Given the description of an element on the screen output the (x, y) to click on. 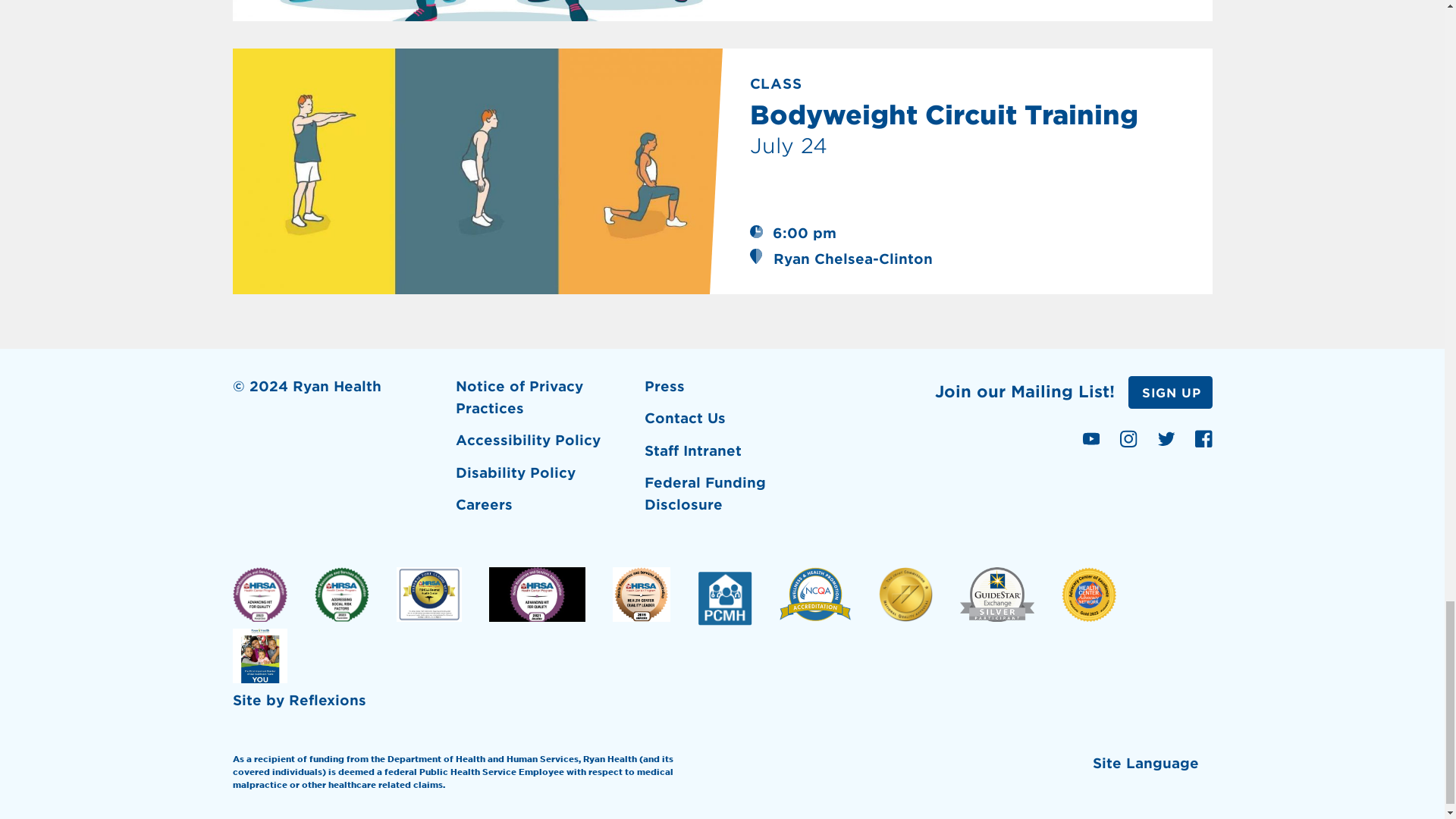
Federal Funding Disclosure (732, 499)
Notice of Privacy Practices (542, 402)
Accessibility Policy (542, 445)
Contact Us (732, 423)
Careers (542, 510)
Press (732, 391)
Staff Intranet (732, 456)
Disability Policy (542, 478)
SIGN UP (1170, 391)
